Given the description of an element on the screen output the (x, y) to click on. 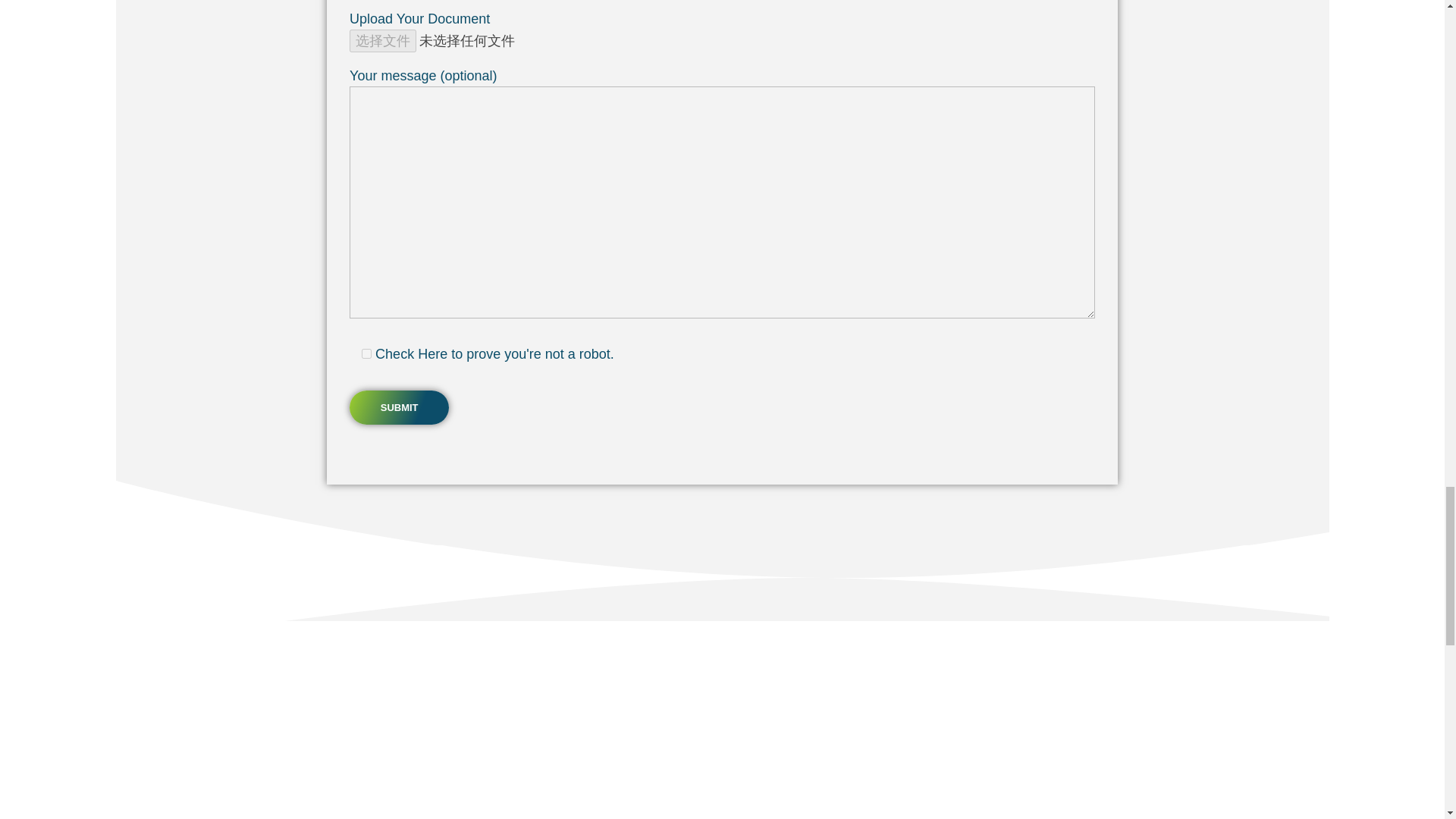
Submit (398, 407)
1 (366, 353)
Submit (398, 407)
